Given the description of an element on the screen output the (x, y) to click on. 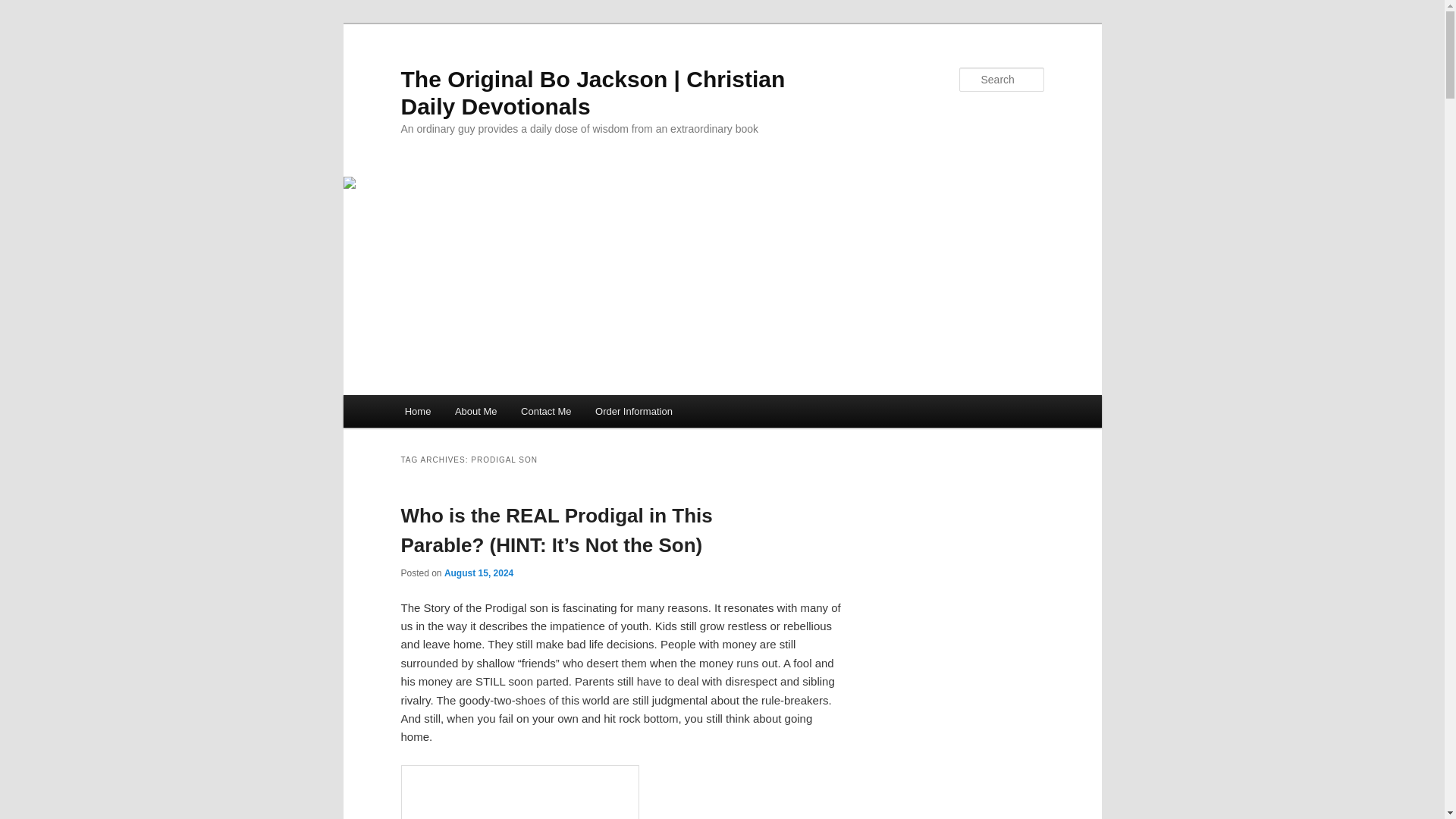
Search (24, 8)
7:38 am (478, 573)
August 15, 2024 (478, 573)
Contact Me (545, 410)
Order Information (633, 410)
About Me (475, 410)
Home (417, 410)
